Given the description of an element on the screen output the (x, y) to click on. 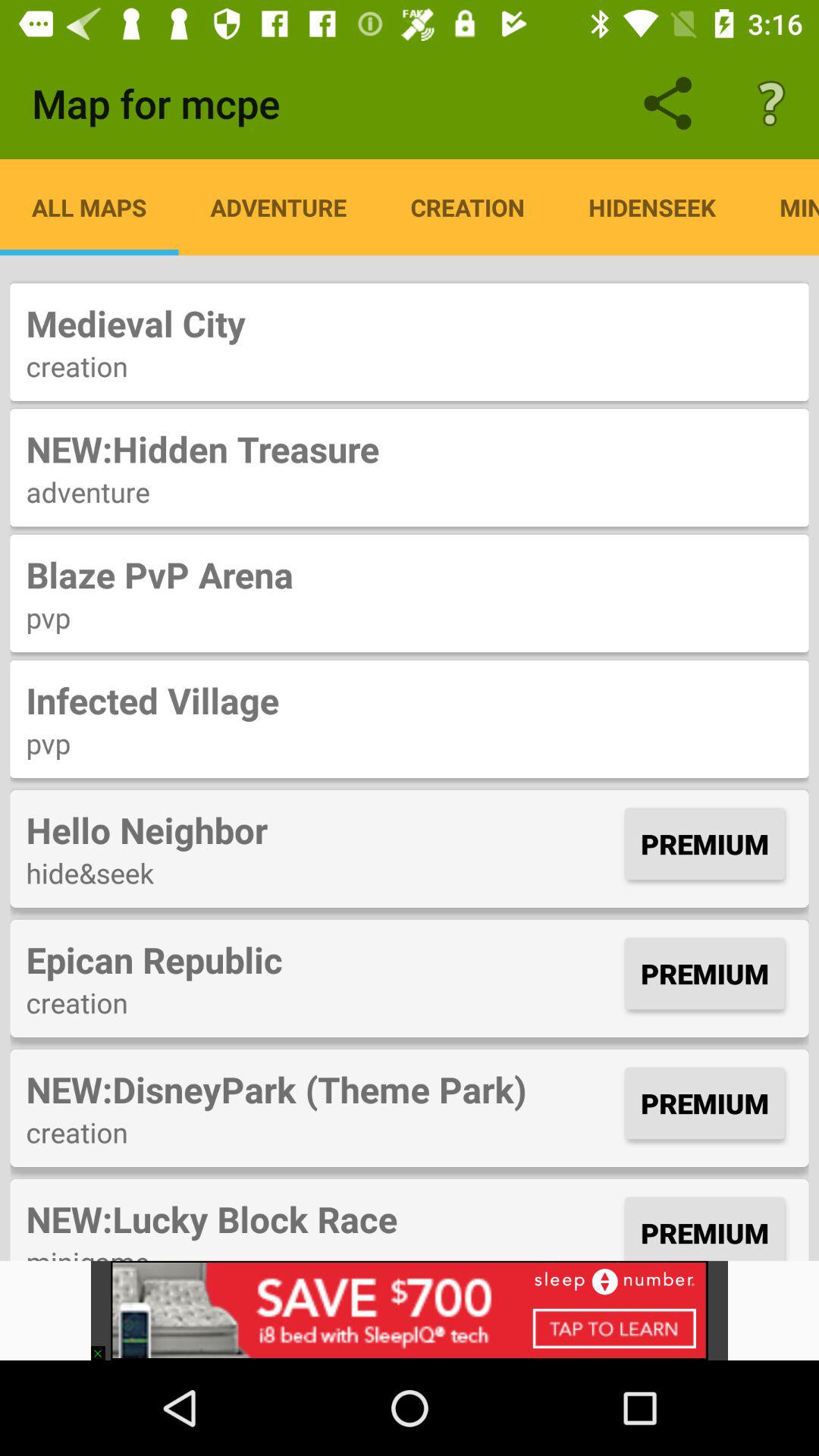
turn off hidenseek item (651, 207)
